Given the description of an element on the screen output the (x, y) to click on. 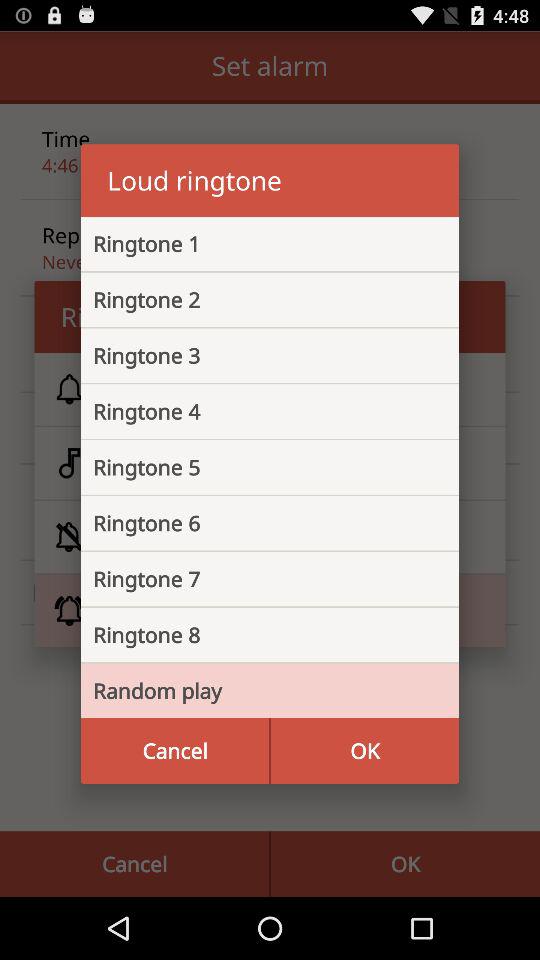
click the app above ringtone 8 (254, 579)
